Given the description of an element on the screen output the (x, y) to click on. 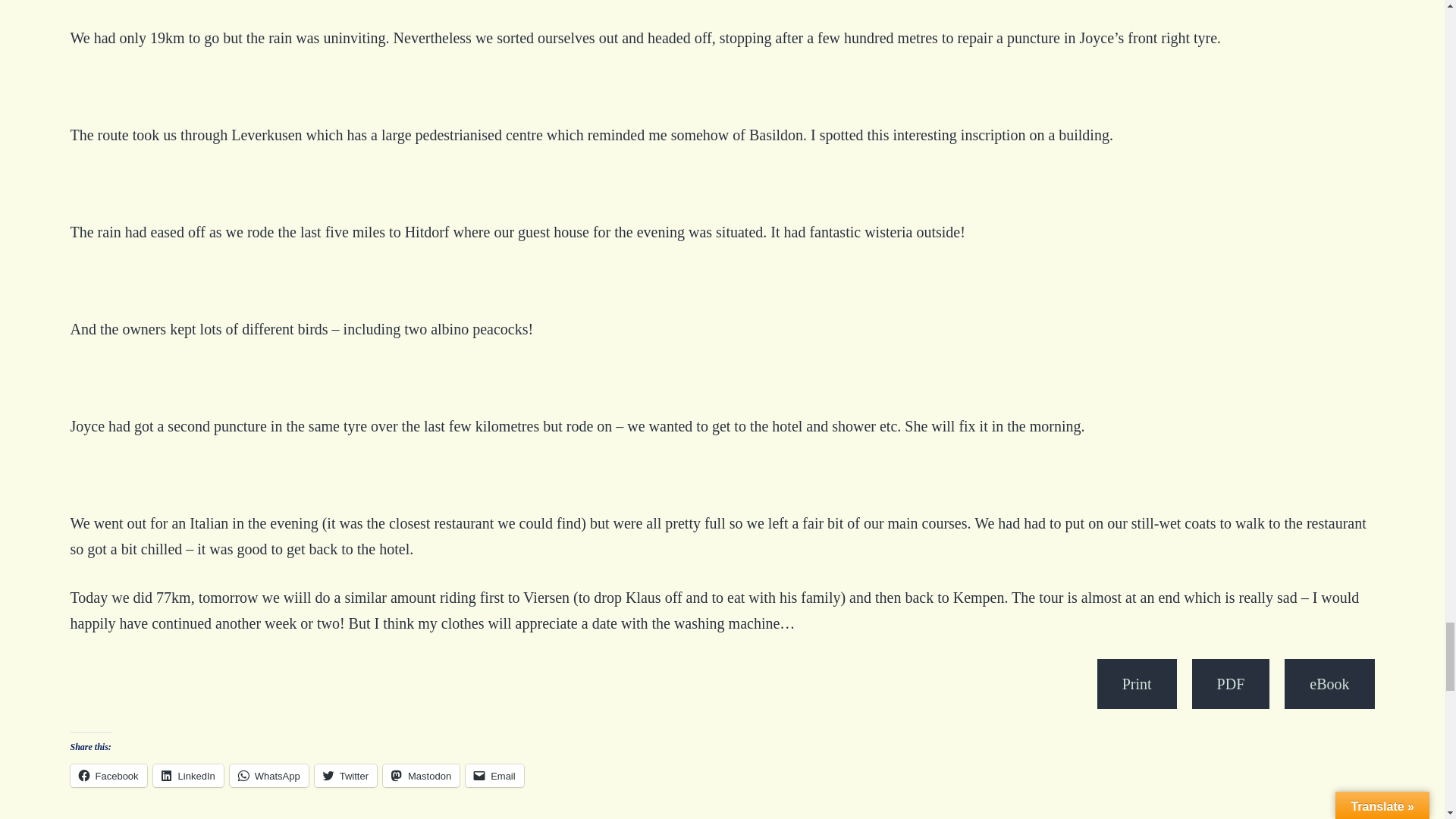
Click to share on LinkedIn (188, 775)
Print (1136, 684)
Click to share on WhatsApp (269, 775)
Facebook (108, 775)
Click to email a link to a friend (494, 775)
WhatsApp (269, 775)
eBook (1329, 684)
Click to share on Twitter (345, 775)
Email (494, 775)
Click to share on Mastodon (421, 775)
